Given the description of an element on the screen output the (x, y) to click on. 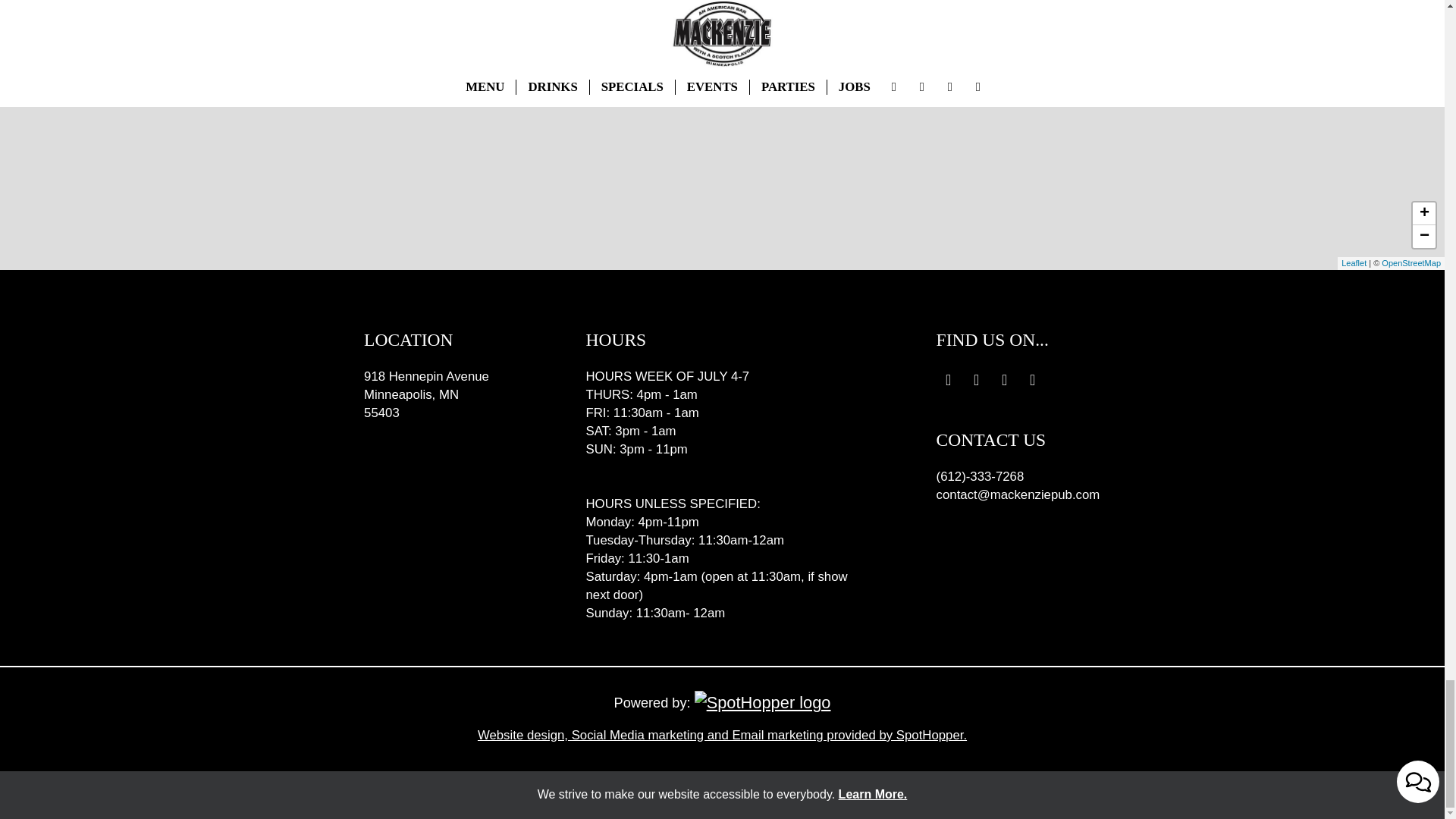
A JS library for interactive maps (1353, 262)
Zoom in (1423, 213)
Zoom out (1423, 236)
